Given the description of an element on the screen output the (x, y) to click on. 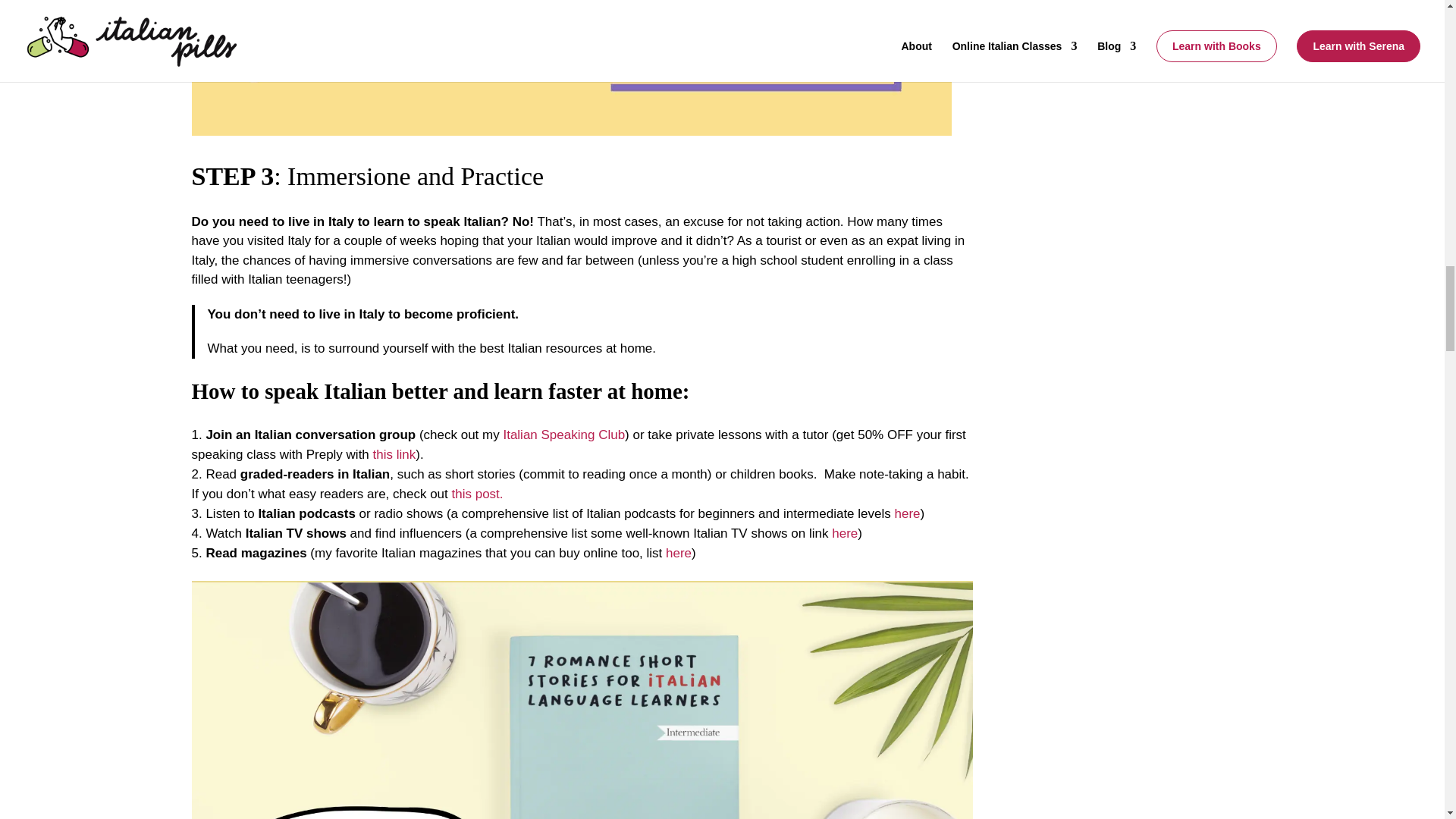
this link (394, 454)
Italian Speaking Club (561, 434)
this post.  (478, 493)
here (678, 553)
here (906, 513)
here (844, 533)
